Given the description of an element on the screen output the (x, y) to click on. 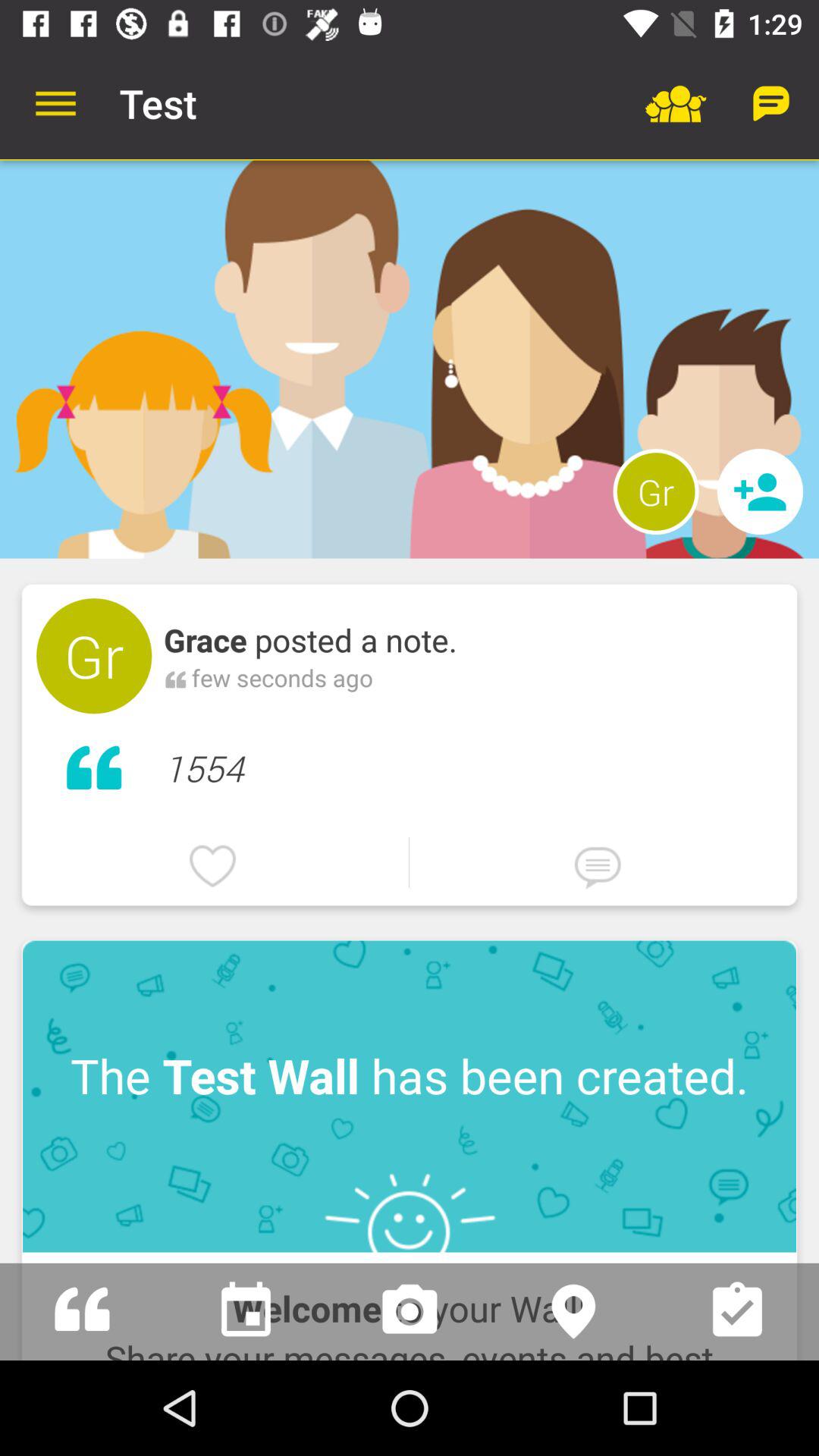
calendar (245, 1311)
